Given the description of an element on the screen output the (x, y) to click on. 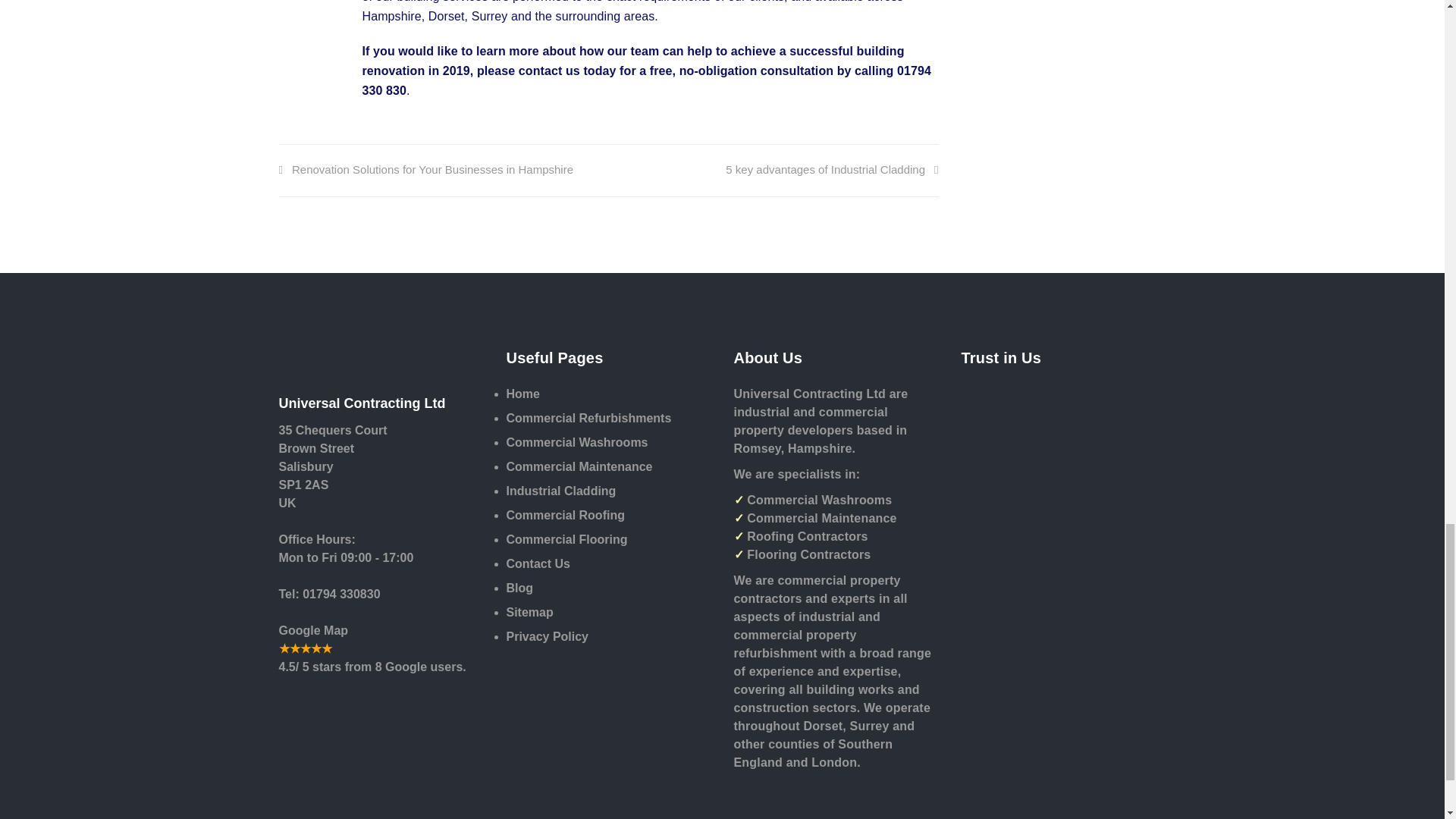
Commercial Refurbishments (608, 421)
Renovation Solutions for Your Businesses in Hampshire (426, 169)
5 key advantages of Industrial Cladding (831, 169)
01794 330830 (339, 593)
Commercial Washrooms (608, 445)
Home (608, 396)
5 key advantages of Industrial Cladding (831, 169)
Renovation Solutions for Your Businesses in Hampshire (426, 169)
Industrial Cladding (608, 494)
Commercial Roofing (608, 518)
Google Map (314, 629)
Home (608, 396)
Sitemap (608, 615)
Commercial Flooring (608, 542)
Blog (608, 591)
